Given the description of an element on the screen output the (x, y) to click on. 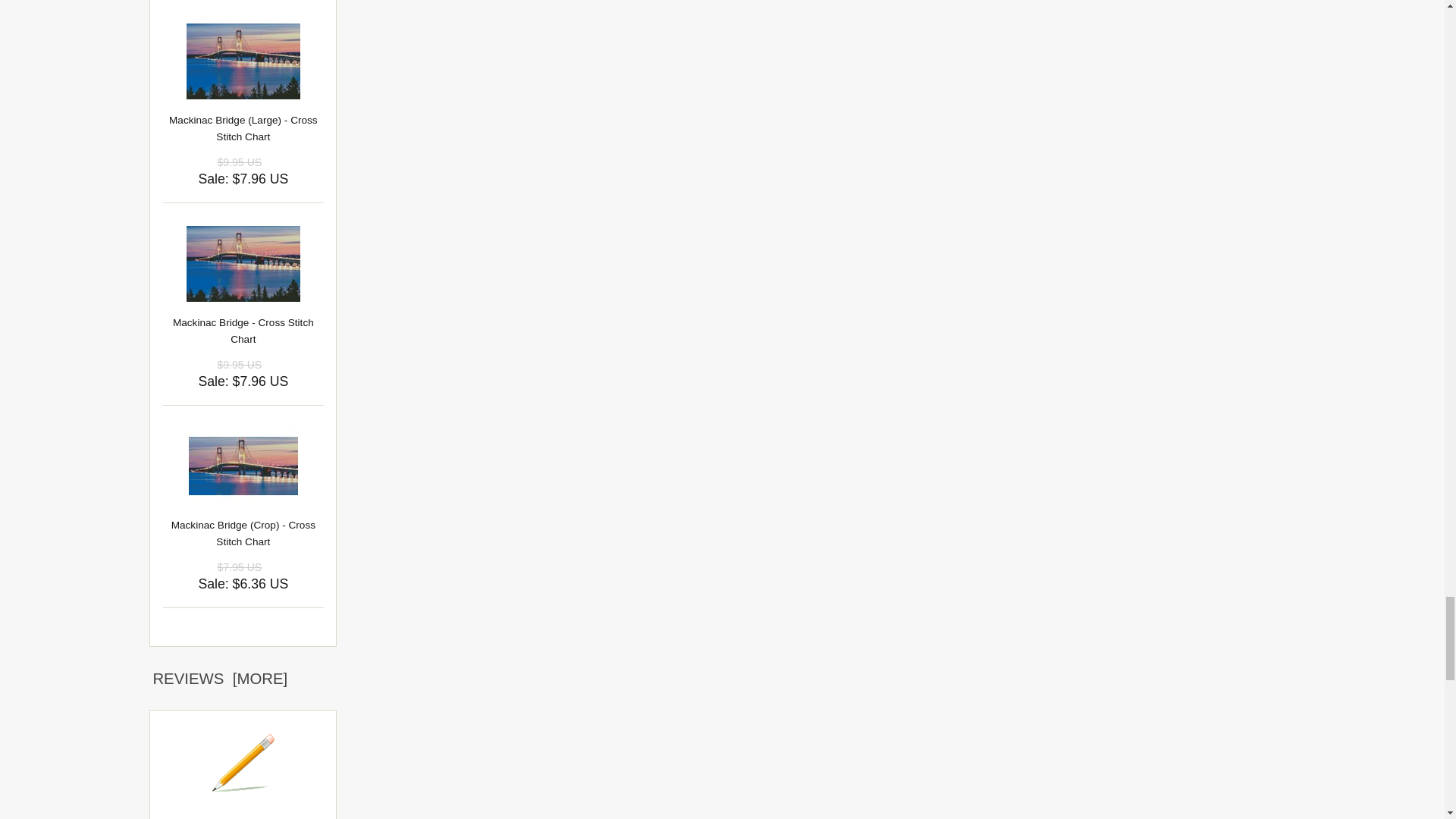
Mackinac Bridge - Cross Stitch Chart (242, 264)
Write a review on this product. (243, 763)
